Given the description of an element on the screen output the (x, y) to click on. 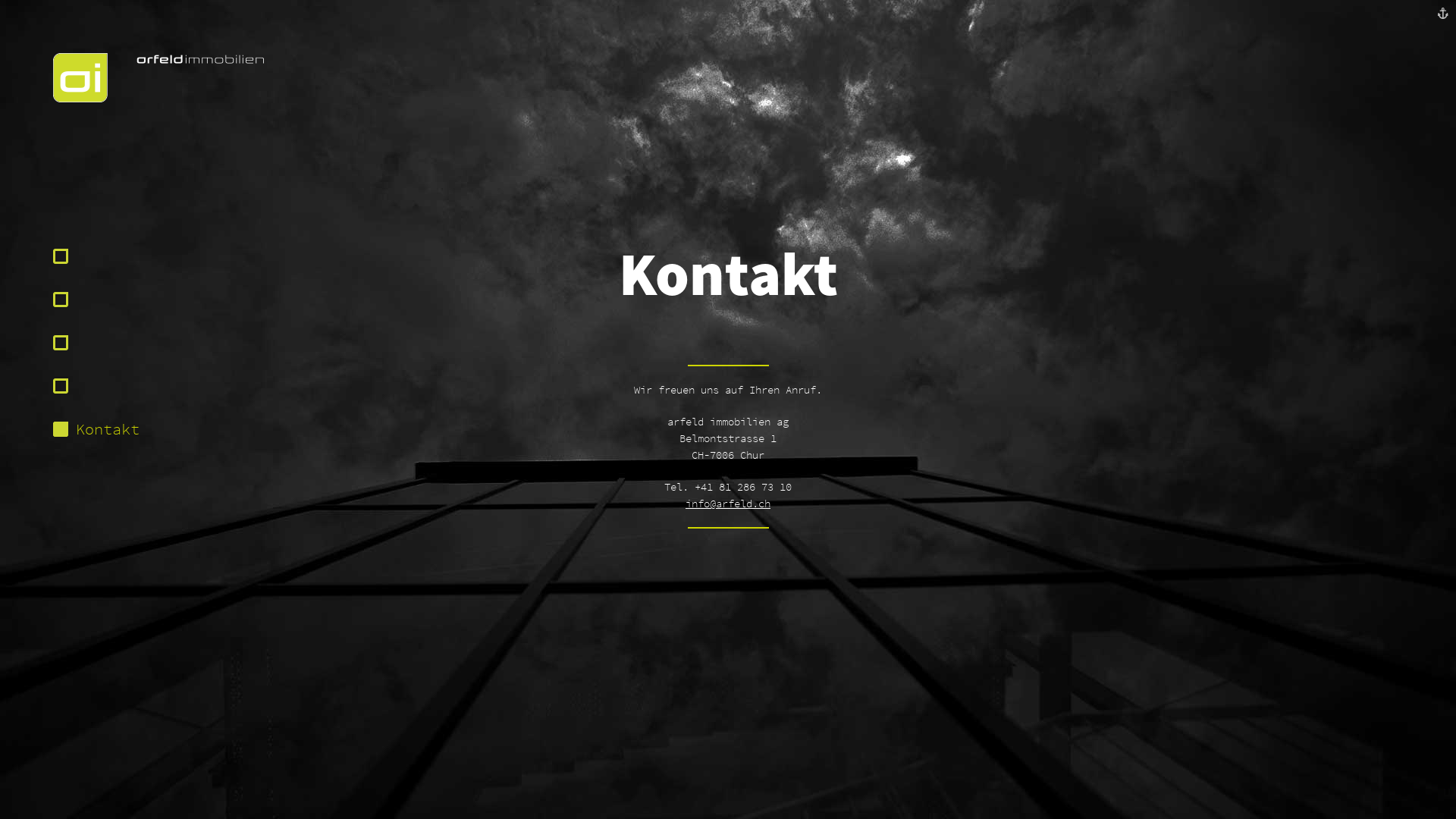
Startseite Element type: hover (159, 98)
Verkauf Element type: hover (96, 385)
Vermietung Element type: hover (96, 342)
Kontakt Element type: text (96, 429)
Immobilien Element type: hover (96, 299)
info@arfeld.ch Element type: text (727, 503)
solution by skipp Element type: hover (1442, 12)
